Given the description of an element on the screen output the (x, y) to click on. 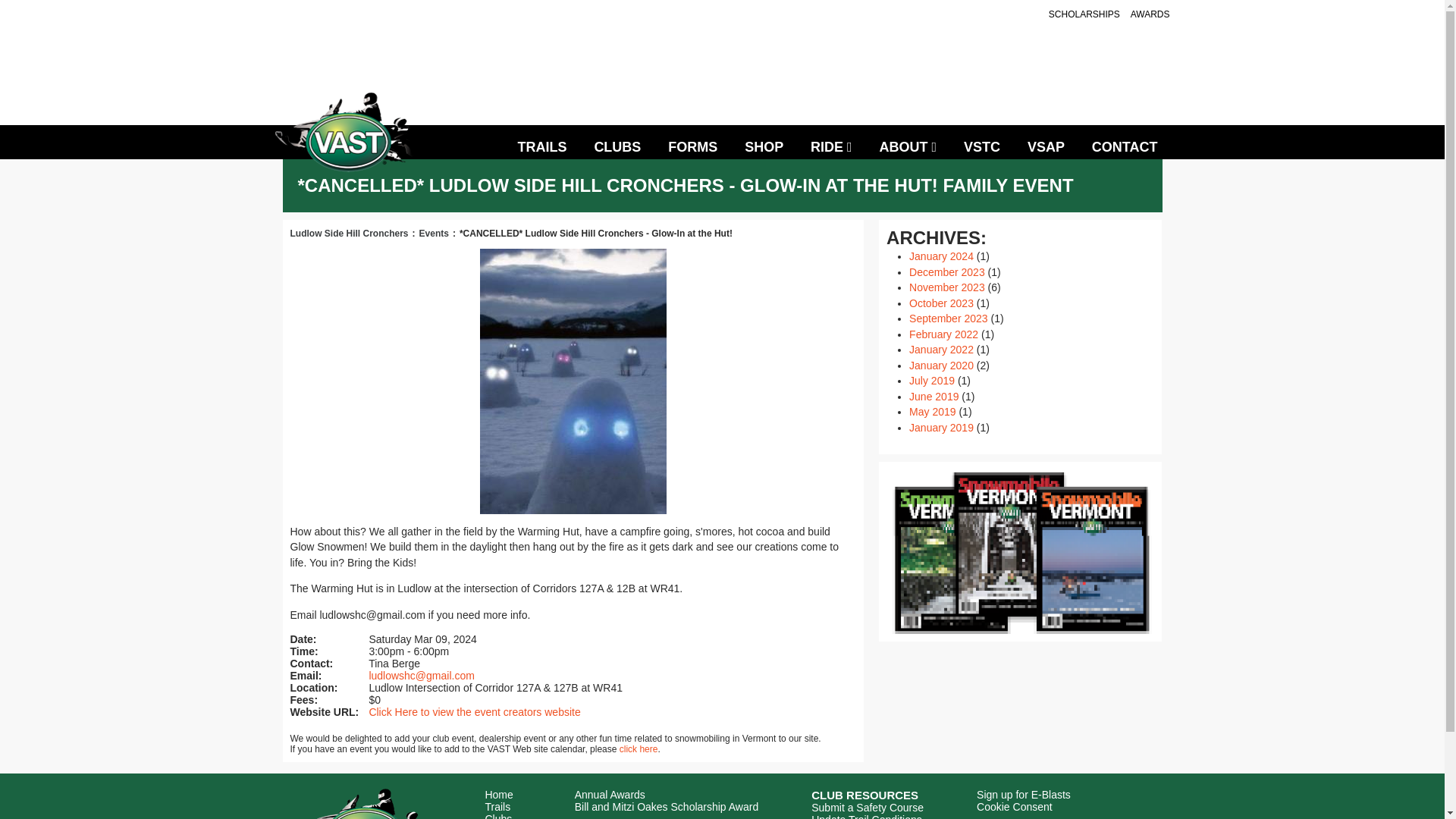
January 2019 (941, 427)
January 2024 (941, 256)
September 2023 (948, 318)
December 2023 (946, 272)
May 2019 (931, 411)
October 2023 (941, 303)
February 2022 (943, 334)
June 2019 (933, 396)
November 2023 (946, 287)
January 2020 (941, 365)
